Given the description of an element on the screen output the (x, y) to click on. 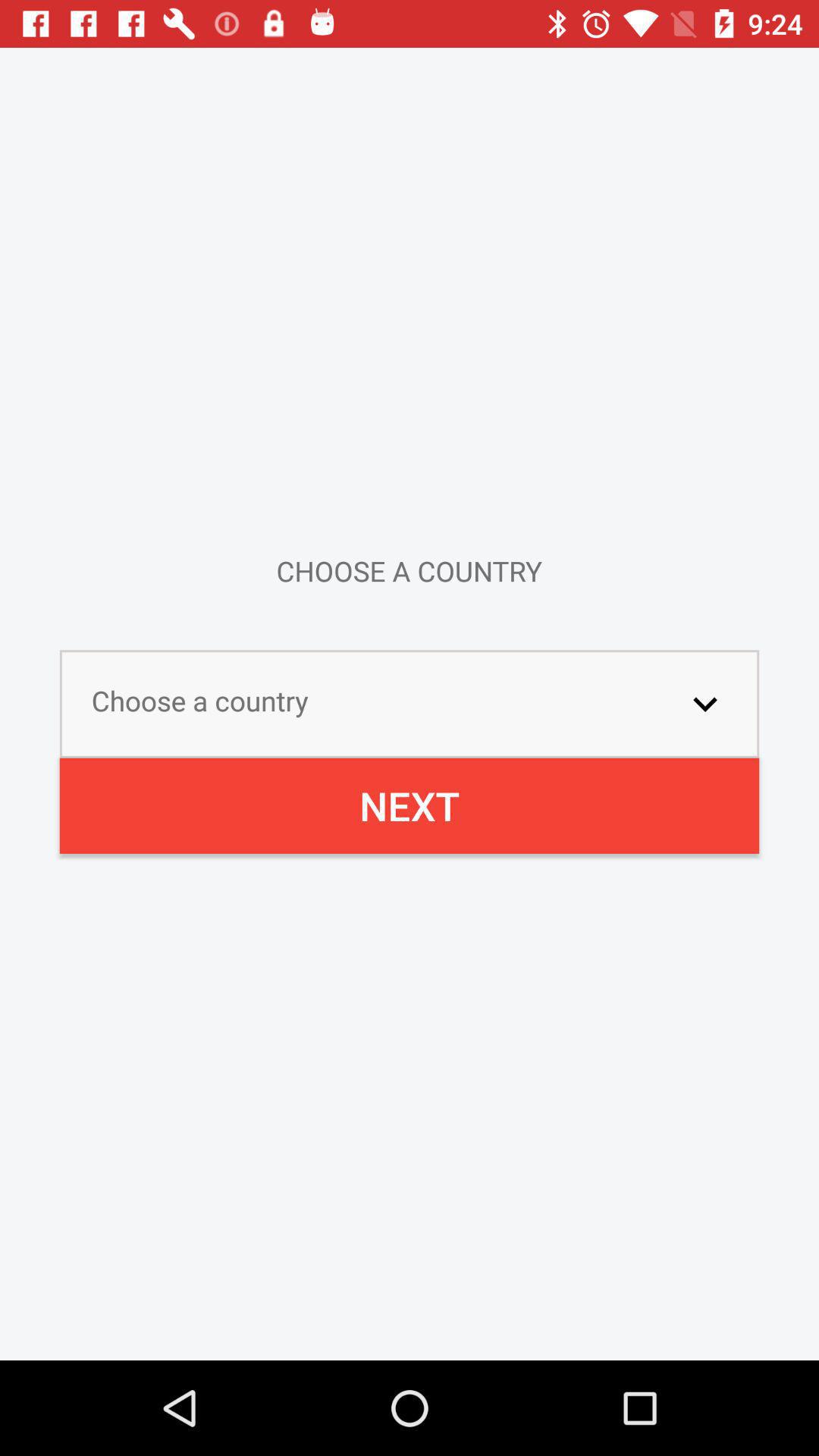
select the next item (409, 805)
